Given the description of an element on the screen output the (x, y) to click on. 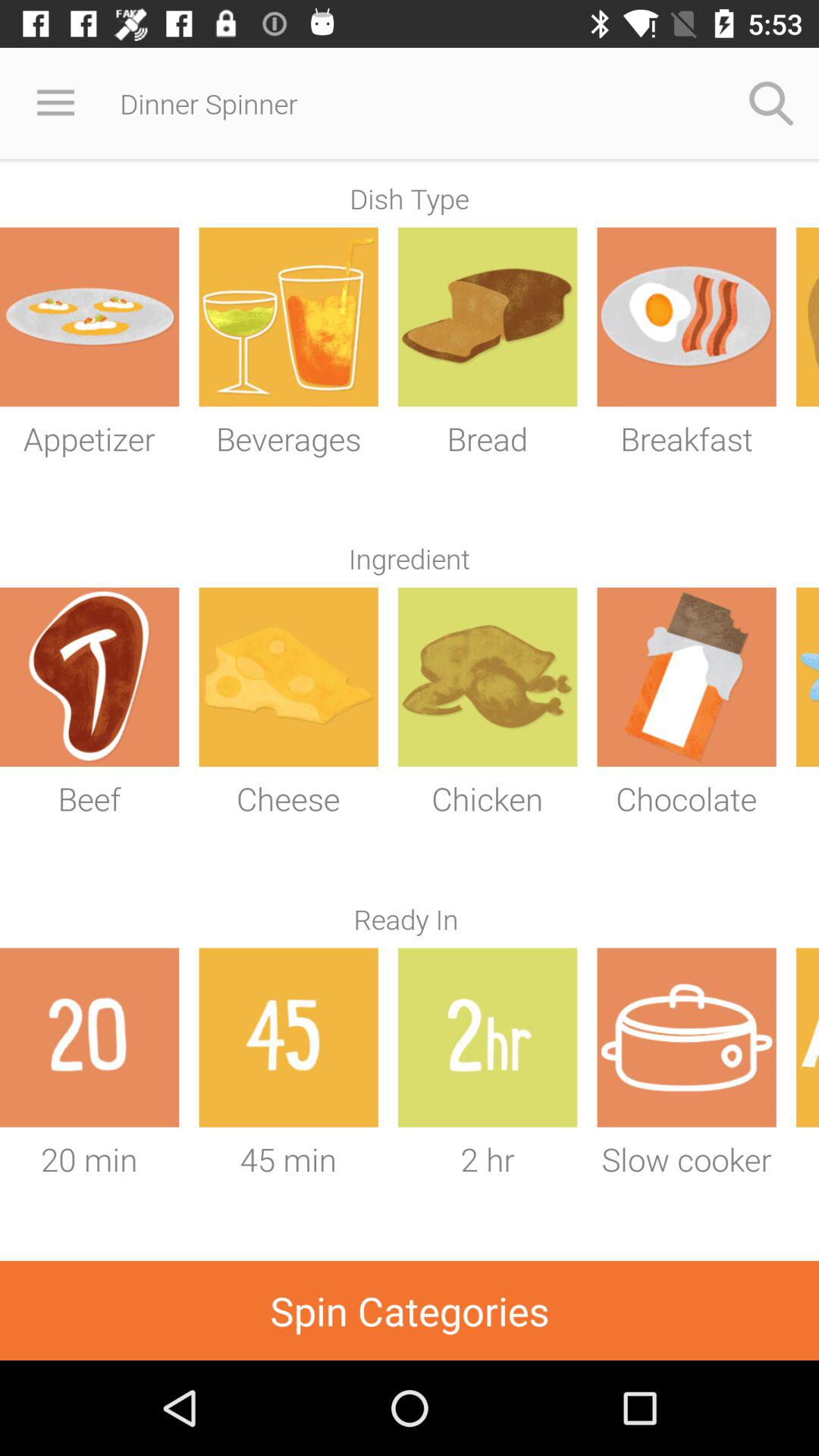
turn off spin categories icon (409, 1310)
